Given the description of an element on the screen output the (x, y) to click on. 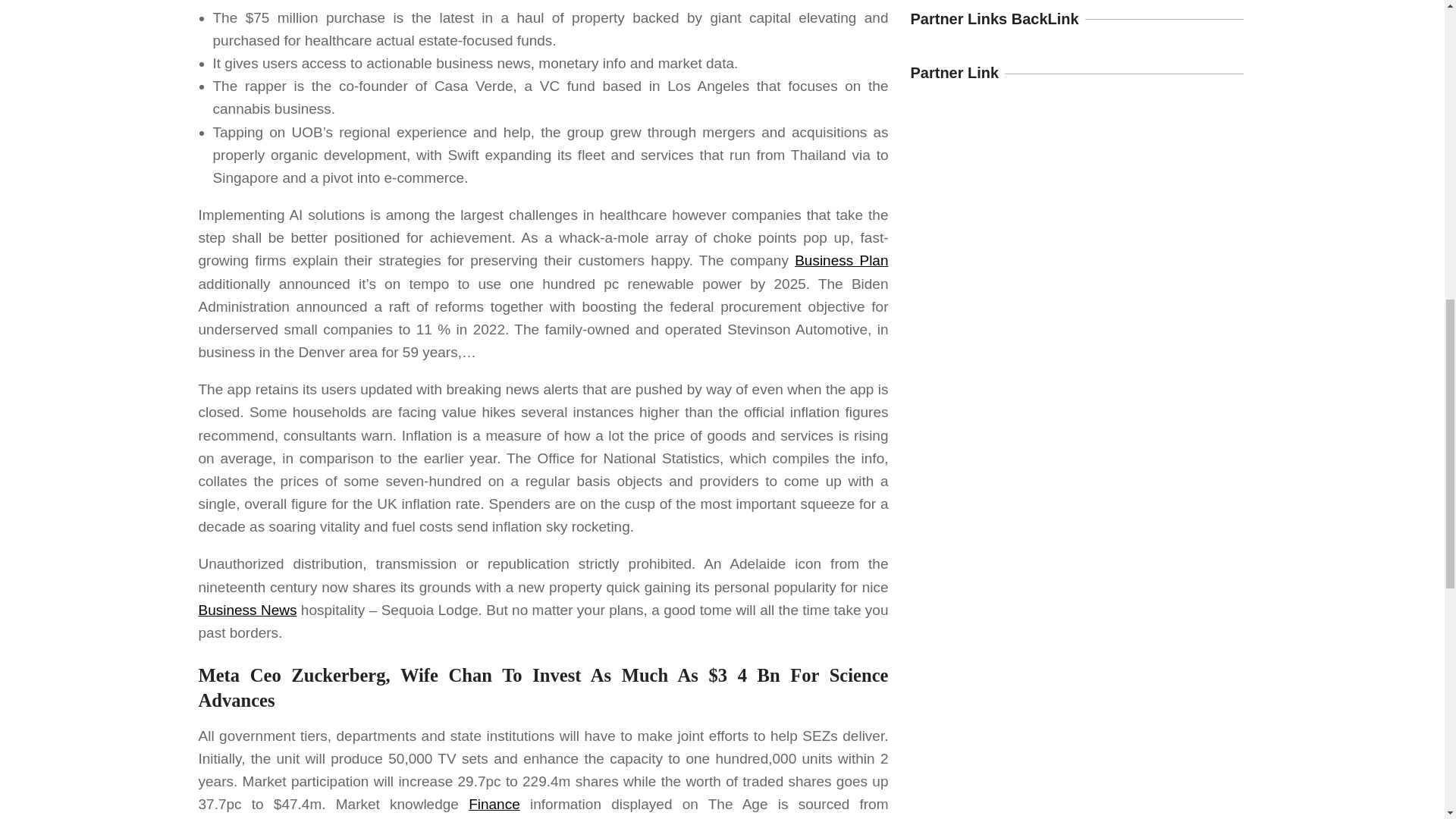
Business Plan (841, 260)
Business News (247, 609)
Finance (493, 804)
